Given the description of an element on the screen output the (x, y) to click on. 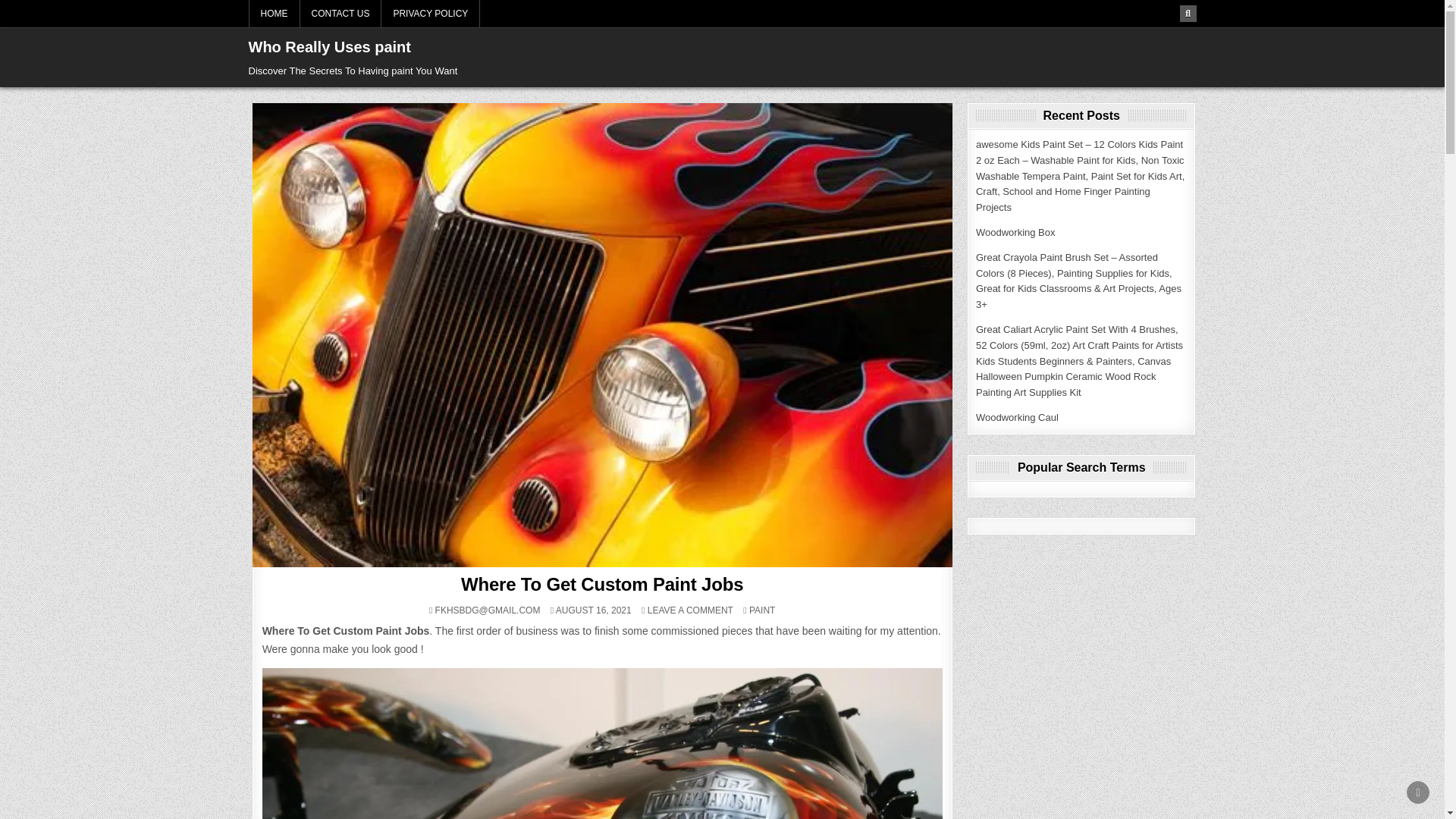
Where To Get Custom Paint Jobs 2 (602, 743)
PRIVACY POLICY (430, 13)
CONTACT US (690, 610)
Woodworking Box (340, 13)
Who Really Uses paint (1015, 232)
PAINT (330, 46)
Woodworking Caul (761, 610)
SCROLL TO TOP (1016, 417)
HOME (1417, 792)
